Given the description of an element on the screen output the (x, y) to click on. 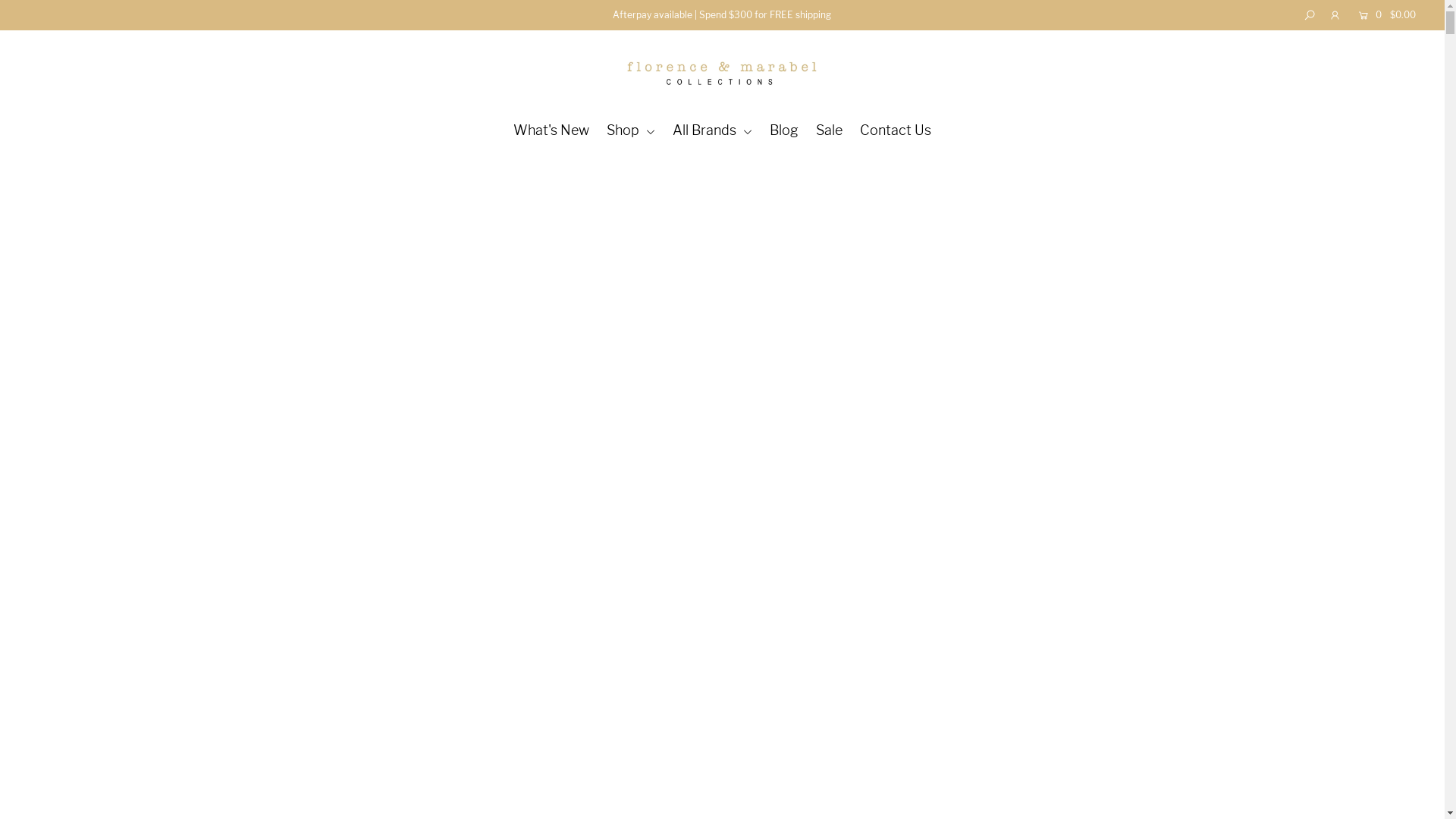
Contact Us Element type: text (895, 130)
Shop Element type: text (630, 130)
  0  $0.00 Element type: text (1383, 15)
Sale Element type: text (829, 130)
All Brands Element type: text (712, 130)
What's New Element type: text (550, 130)
Blog Element type: text (784, 130)
